Given the description of an element on the screen output the (x, y) to click on. 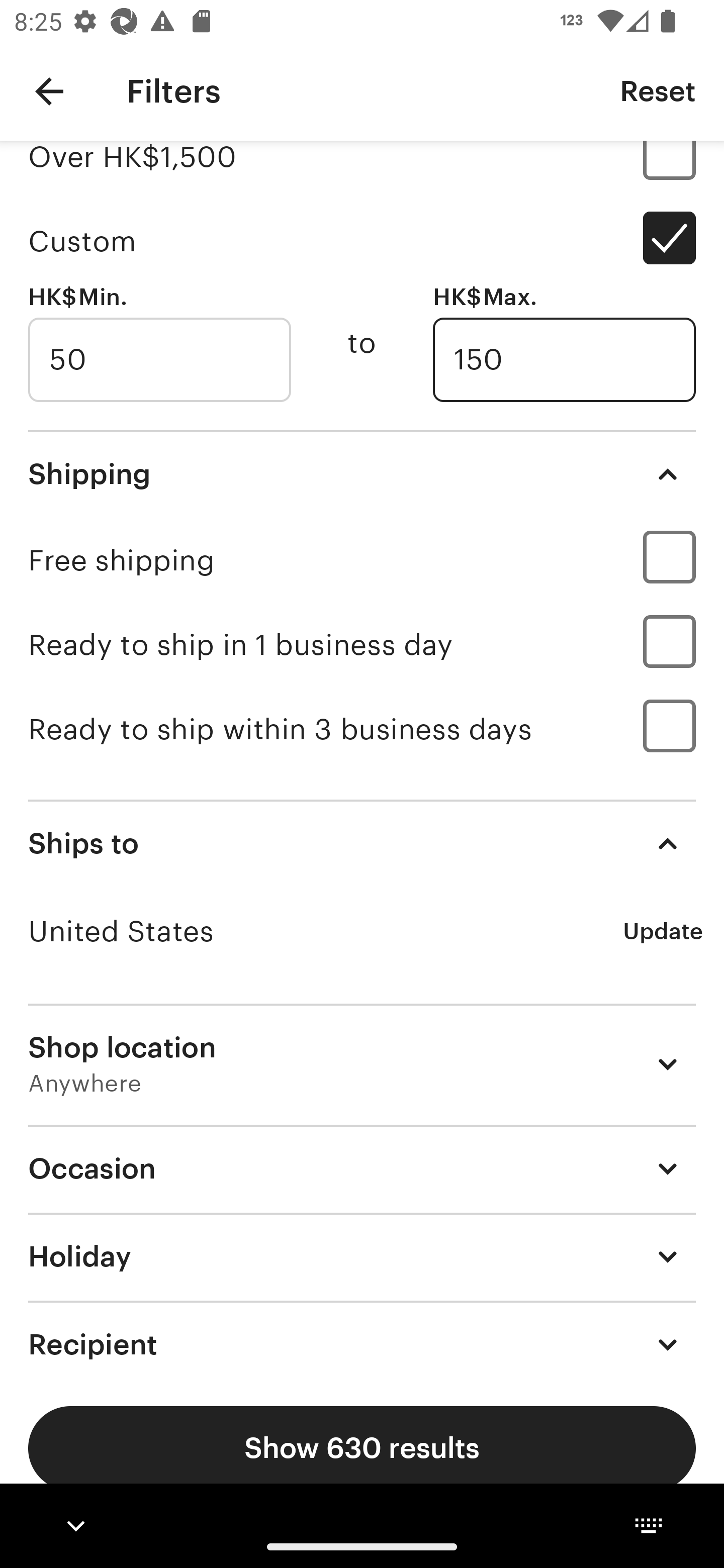
Navigate up (49, 91)
Reset (657, 90)
Over HK$1,500 (362, 170)
Custom (362, 241)
50 (159, 359)
150 (563, 359)
Shipping (362, 473)
Free shipping (362, 559)
Ready to ship in 1 business day (362, 644)
Ready to ship within 3 business days (362, 728)
Ships to (362, 843)
Update (662, 931)
Shop location Anywhere (362, 1063)
Occasion (362, 1168)
Holiday (362, 1255)
Recipient (362, 1338)
Show 630 results Show 11,032 results (361, 1448)
